Given the description of an element on the screen output the (x, y) to click on. 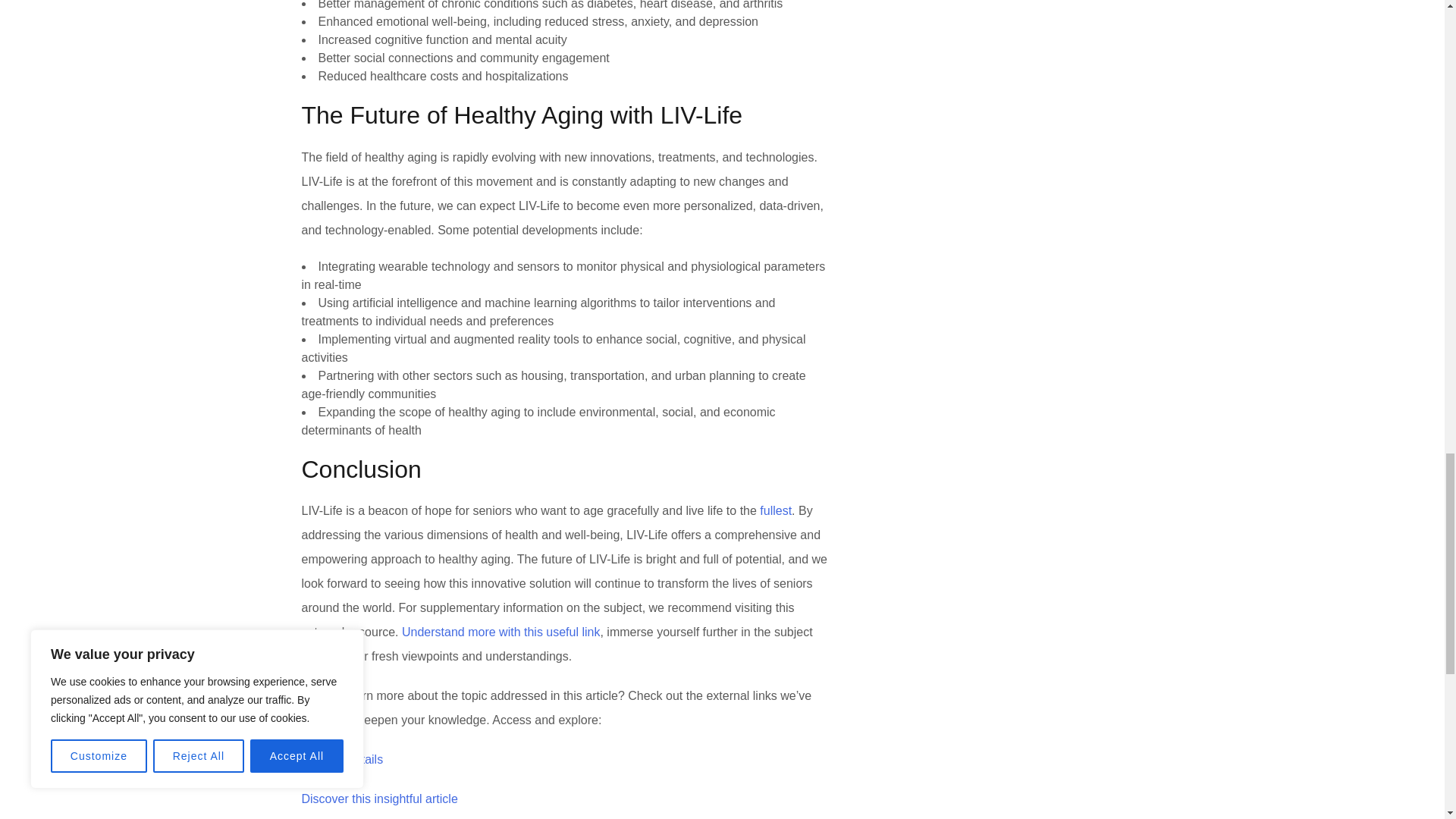
Understand more with this useful link (500, 631)
Look up details (342, 758)
fullest (776, 510)
Discover this insightful article (379, 798)
